Given the description of an element on the screen output the (x, y) to click on. 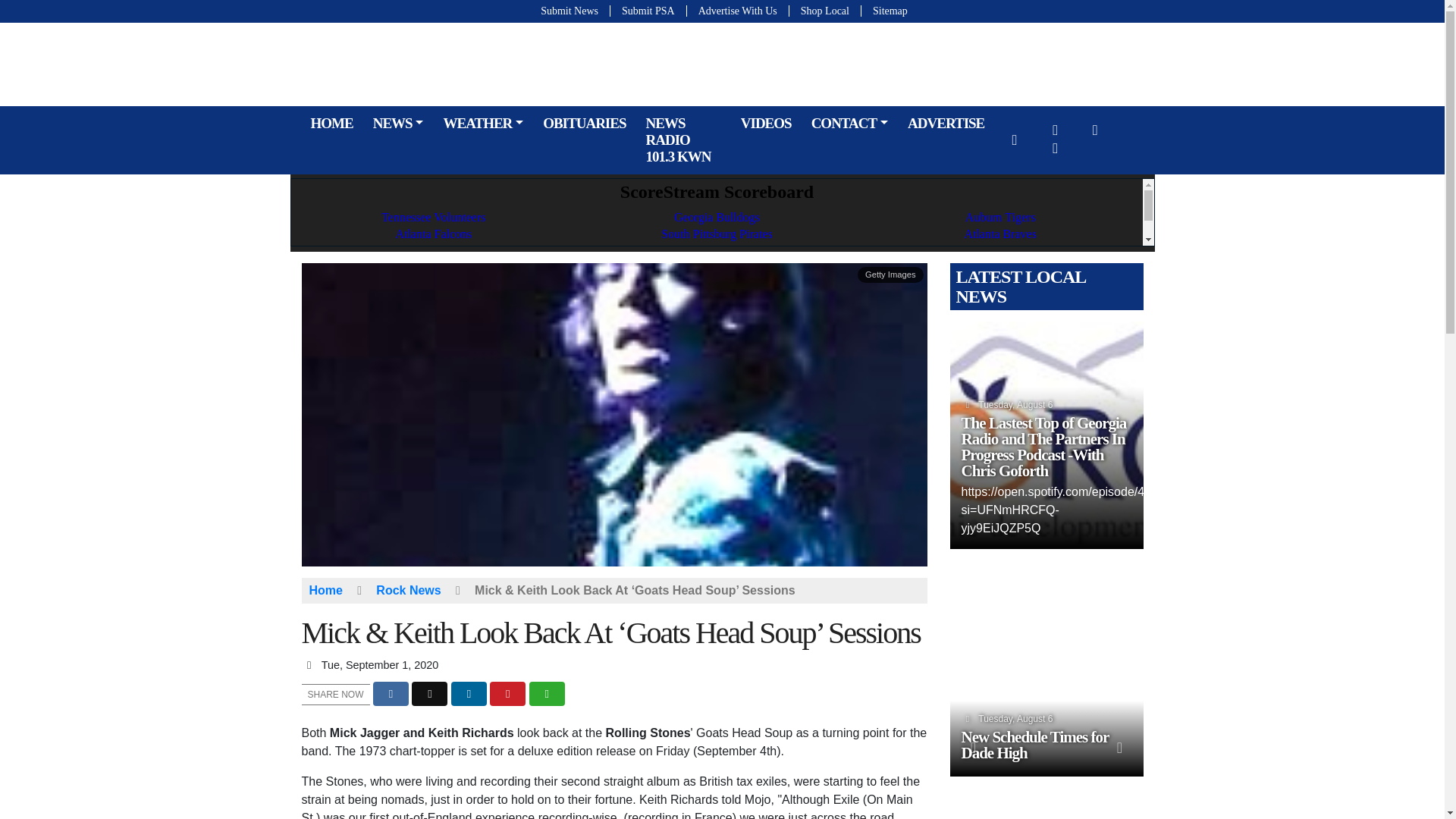
Advertise With Us (738, 10)
Submit PSA (648, 10)
Follow us on Facebook (1055, 130)
Submit News (573, 10)
Sitemap (884, 10)
Shop Local (825, 10)
